Given the description of an element on the screen output the (x, y) to click on. 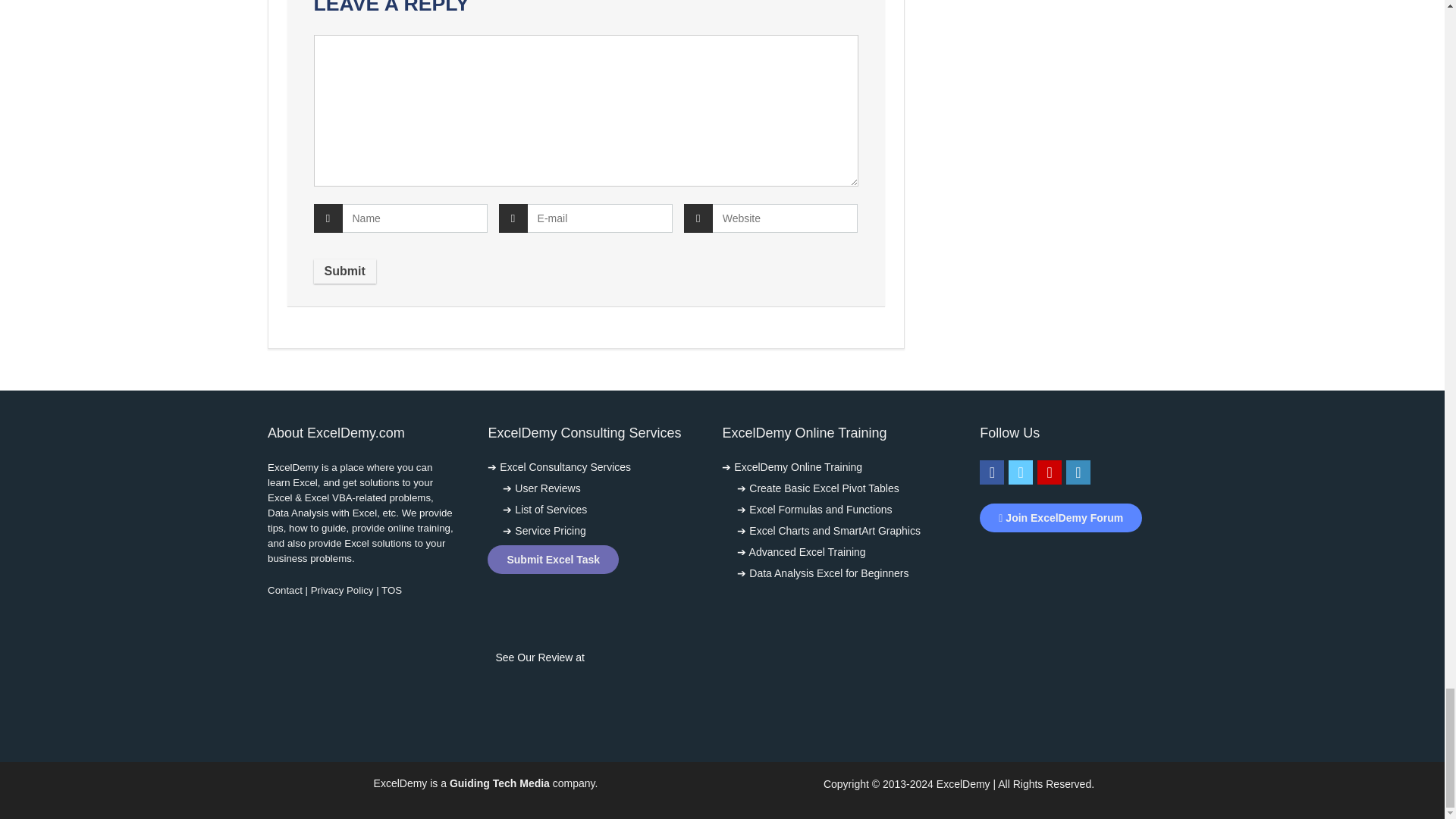
DMCA.com Protection Status (1073, 558)
Submit (344, 271)
